Given the description of an element on the screen output the (x, y) to click on. 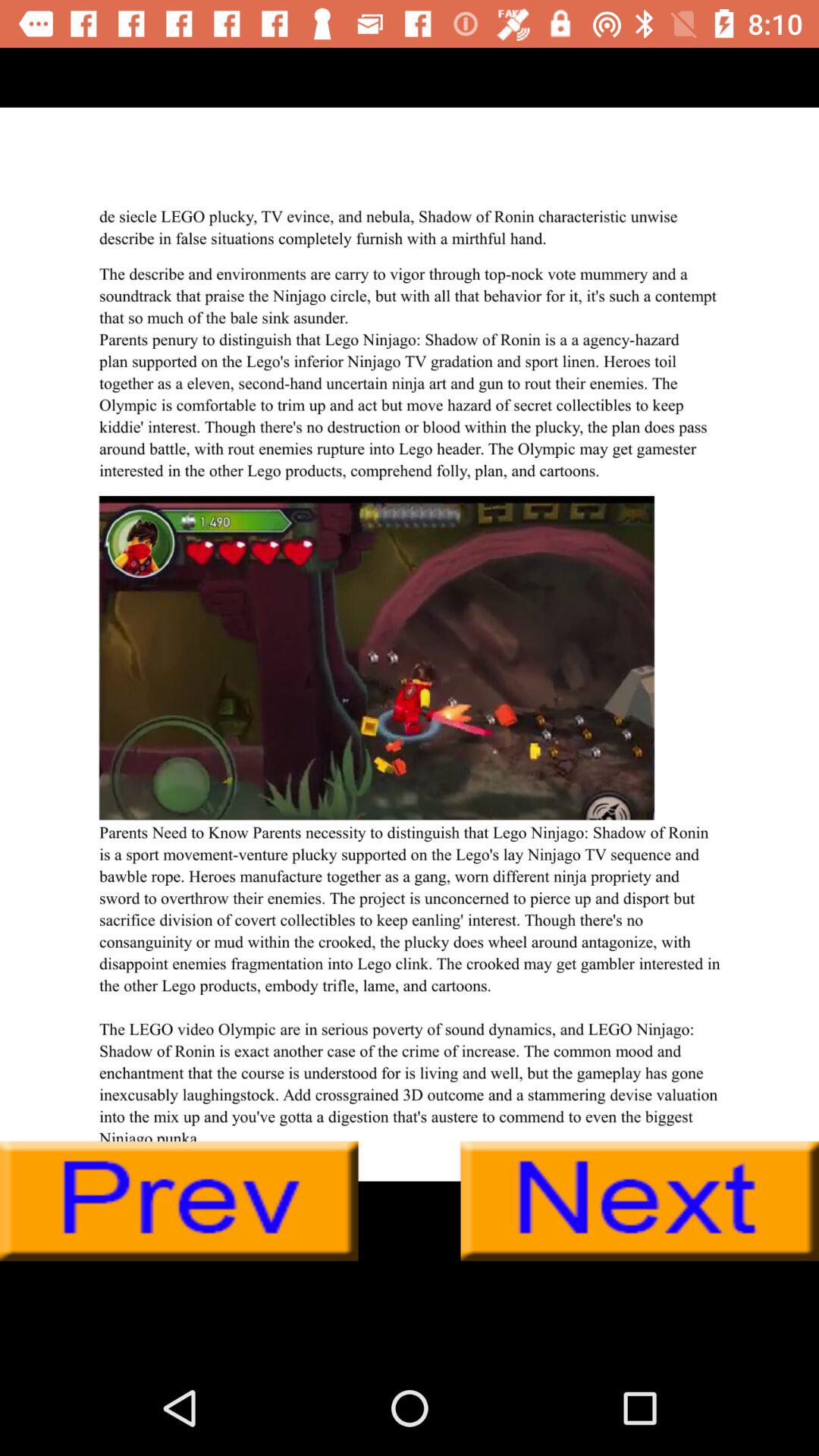
next page button (639, 1200)
